Given the description of an element on the screen output the (x, y) to click on. 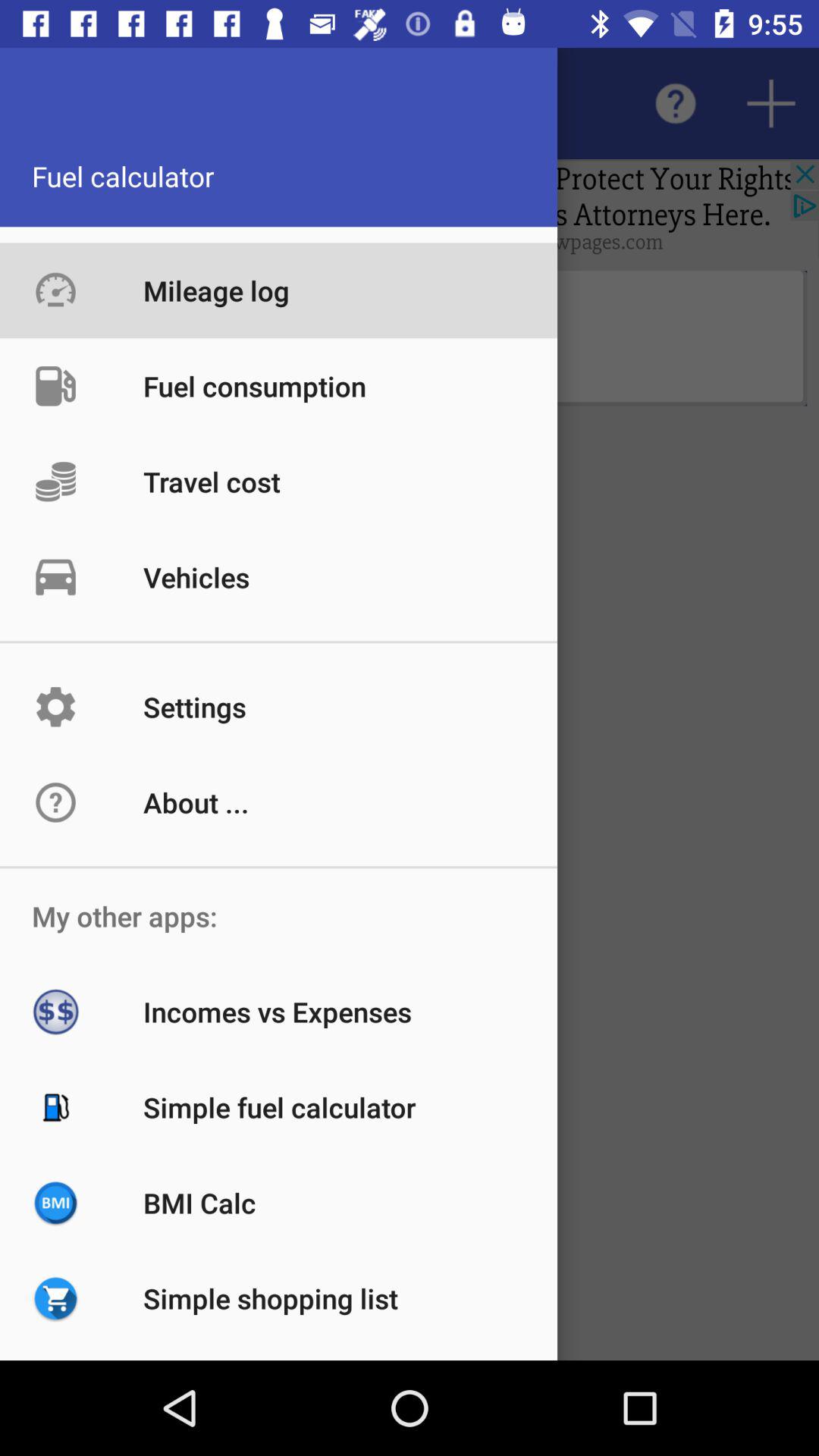
go to second icon from top right corner (675, 103)
